Given the description of an element on the screen output the (x, y) to click on. 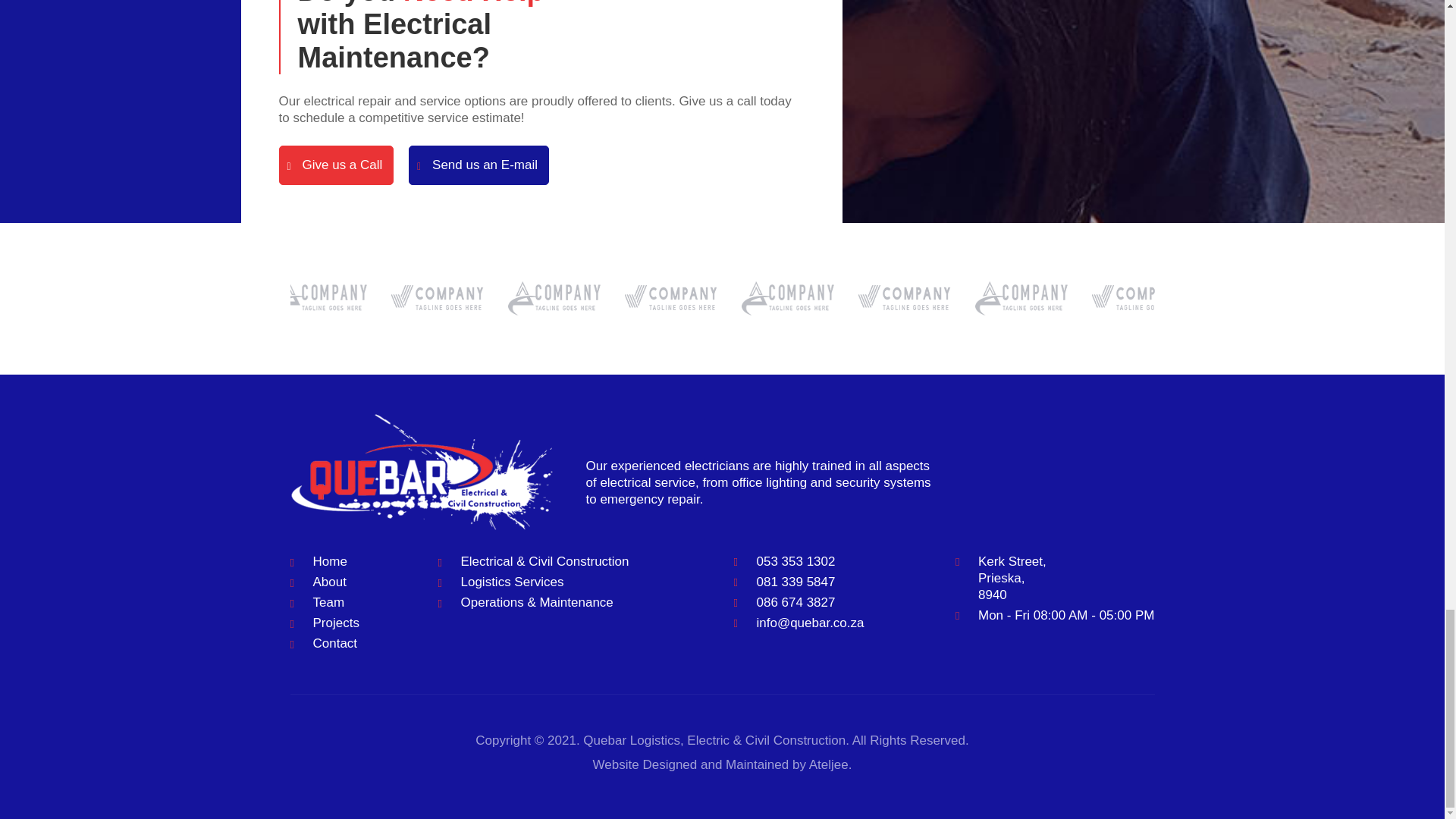
About (329, 581)
Home (329, 561)
Send us an E-mail (478, 165)
Give us a Call (336, 165)
